Given the description of an element on the screen output the (x, y) to click on. 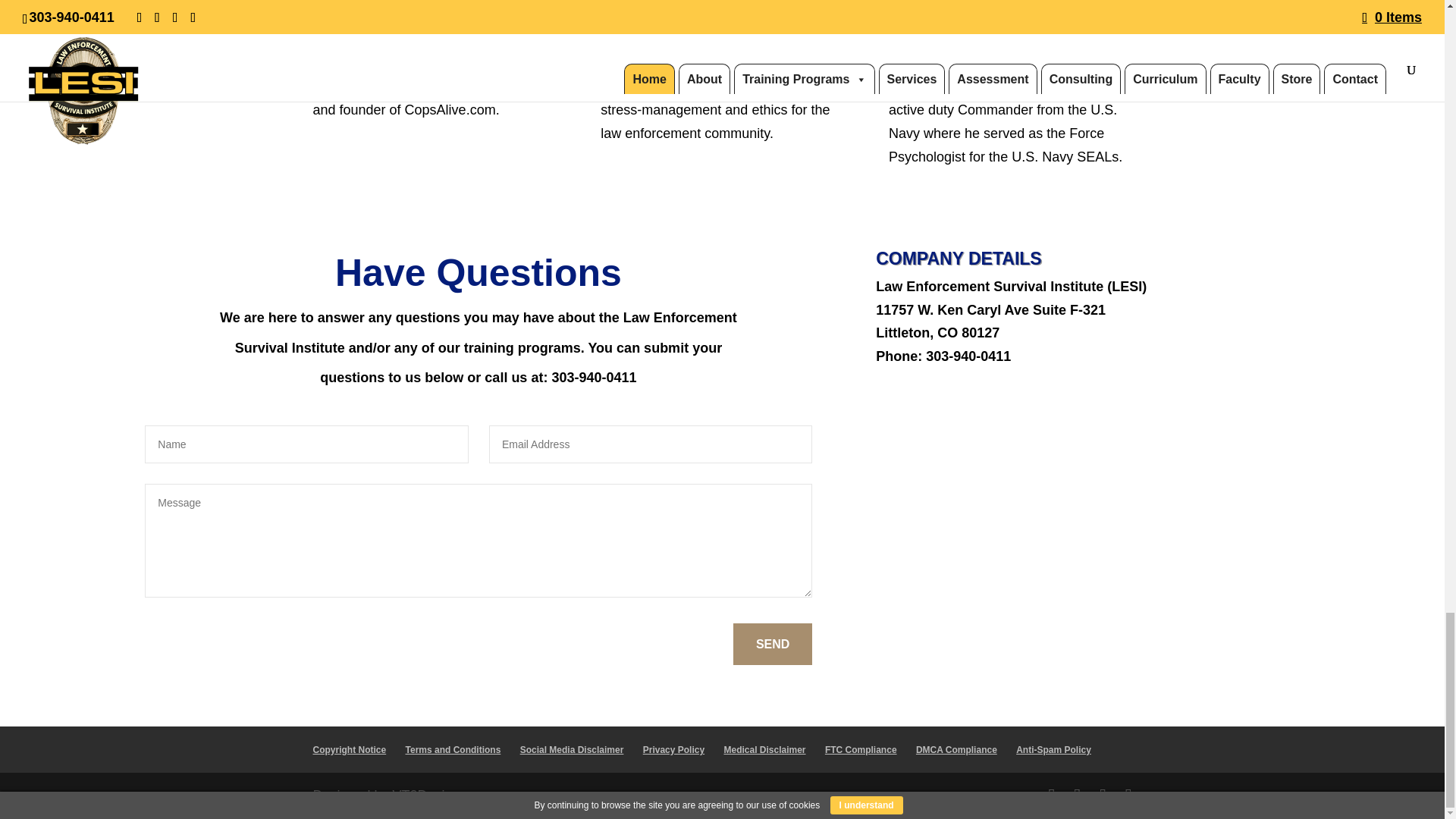
Social Media Disclaimer (571, 749)
Copyright Notice (349, 749)
Terms and Conditions (453, 749)
SEND (772, 644)
